Given the description of an element on the screen output the (x, y) to click on. 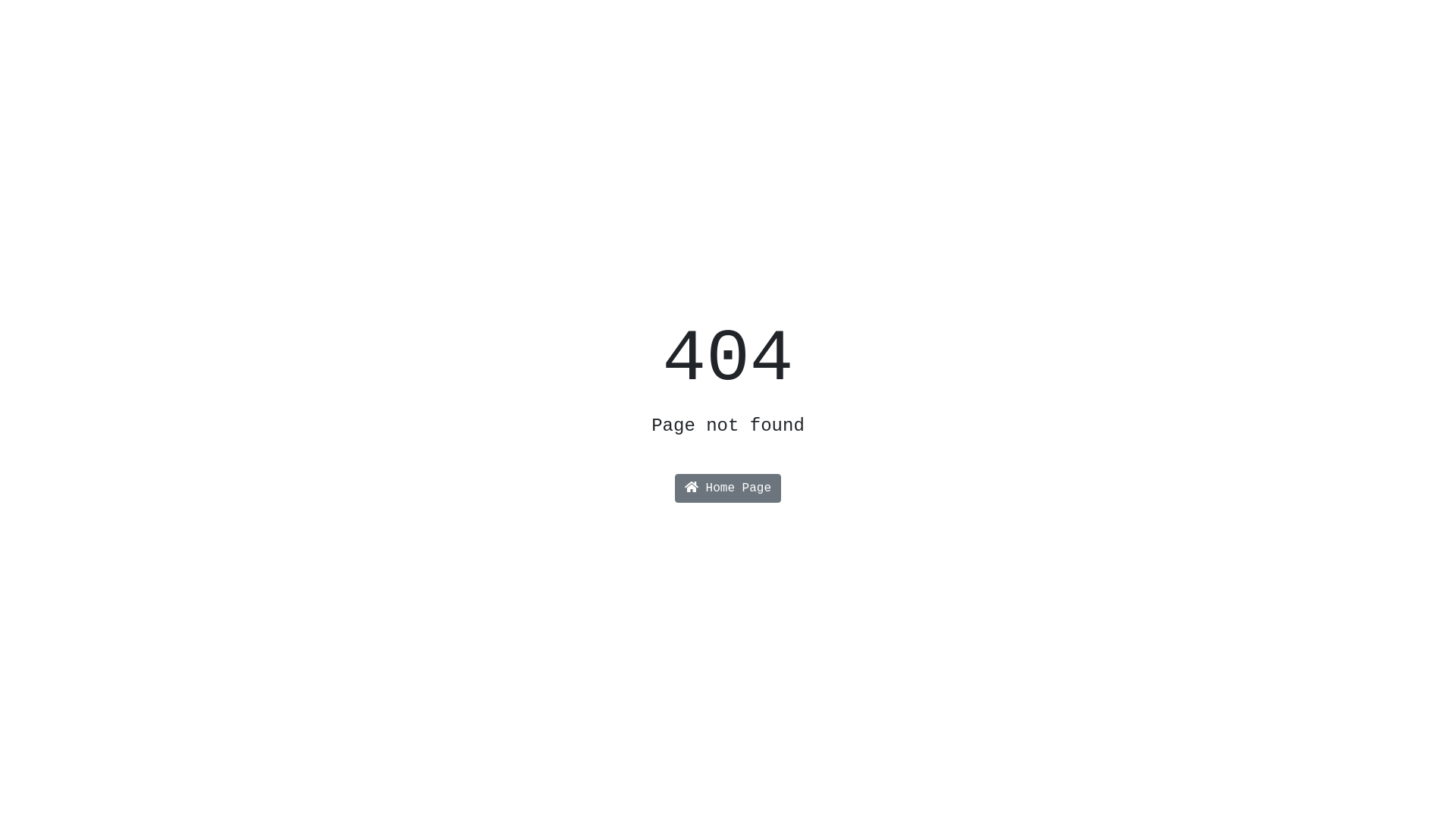
Home Page Element type: text (727, 487)
